Given the description of an element on the screen output the (x, y) to click on. 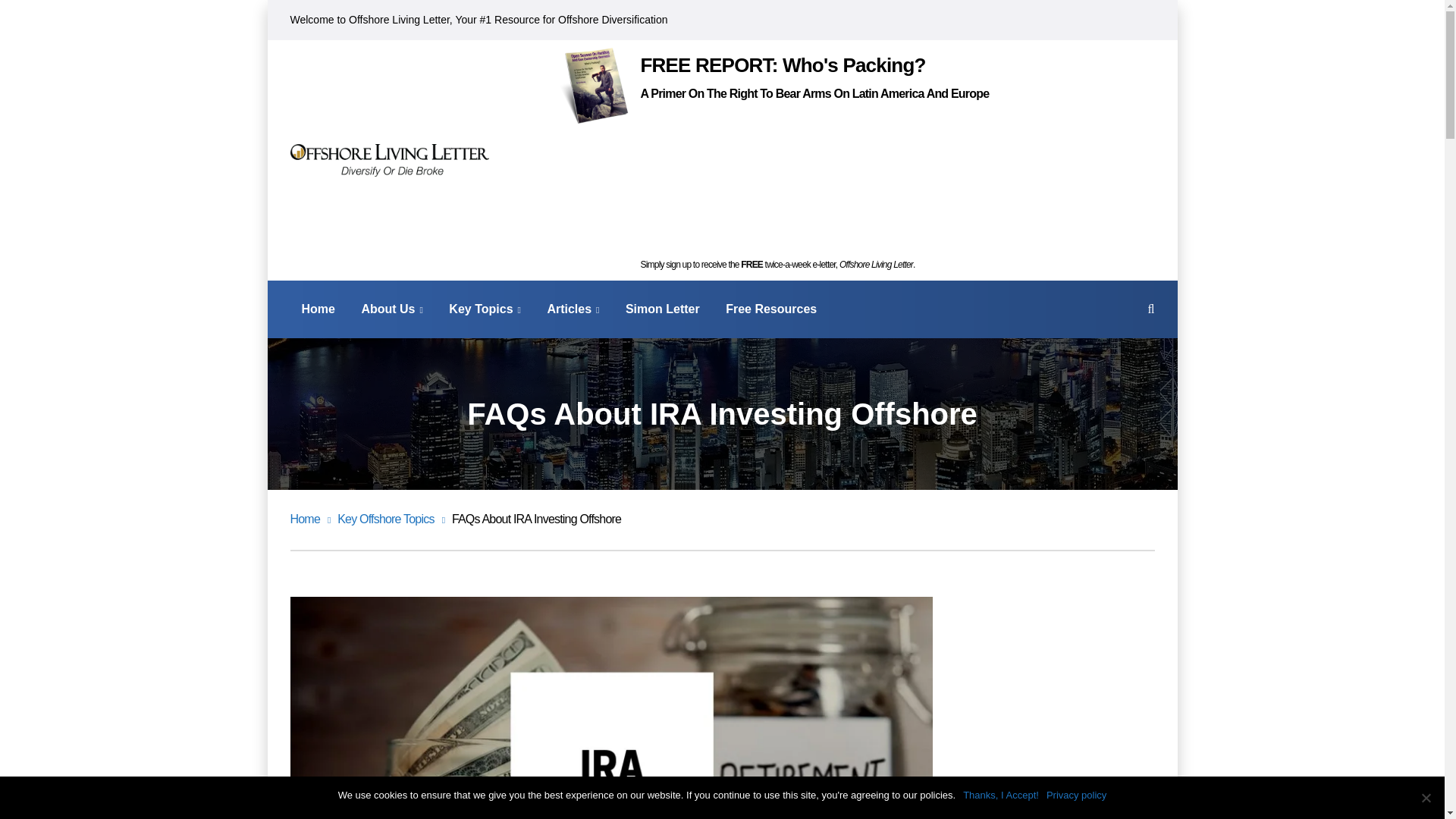
Free Resources (770, 309)
About Us (392, 309)
Home (309, 518)
Key Offshore Topics (390, 518)
Home (317, 309)
Simon Letter (663, 309)
Key Topics (484, 309)
Articles (572, 309)
